Given the description of an element on the screen output the (x, y) to click on. 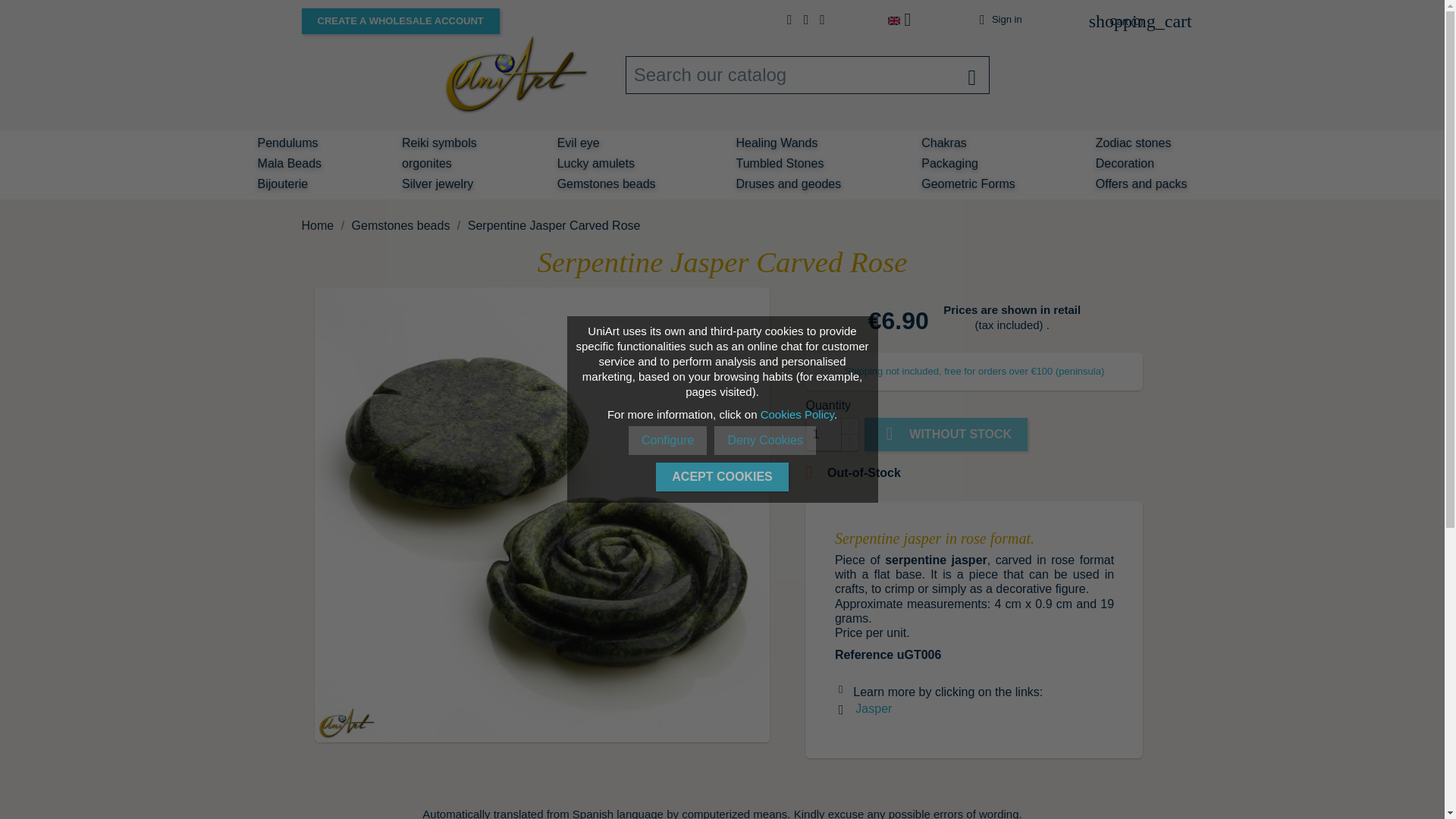
Bijouterie (283, 185)
Packaging (949, 164)
Healing Wands (777, 144)
Evil eye (578, 144)
Sign in (998, 19)
Silver jewelry (437, 185)
Pendulums (287, 144)
Zodiac stones (1133, 144)
Rules and shipping costs (974, 370)
CREATE A WHOLESALE ACCOUNT (400, 21)
